Given the description of an element on the screen output the (x, y) to click on. 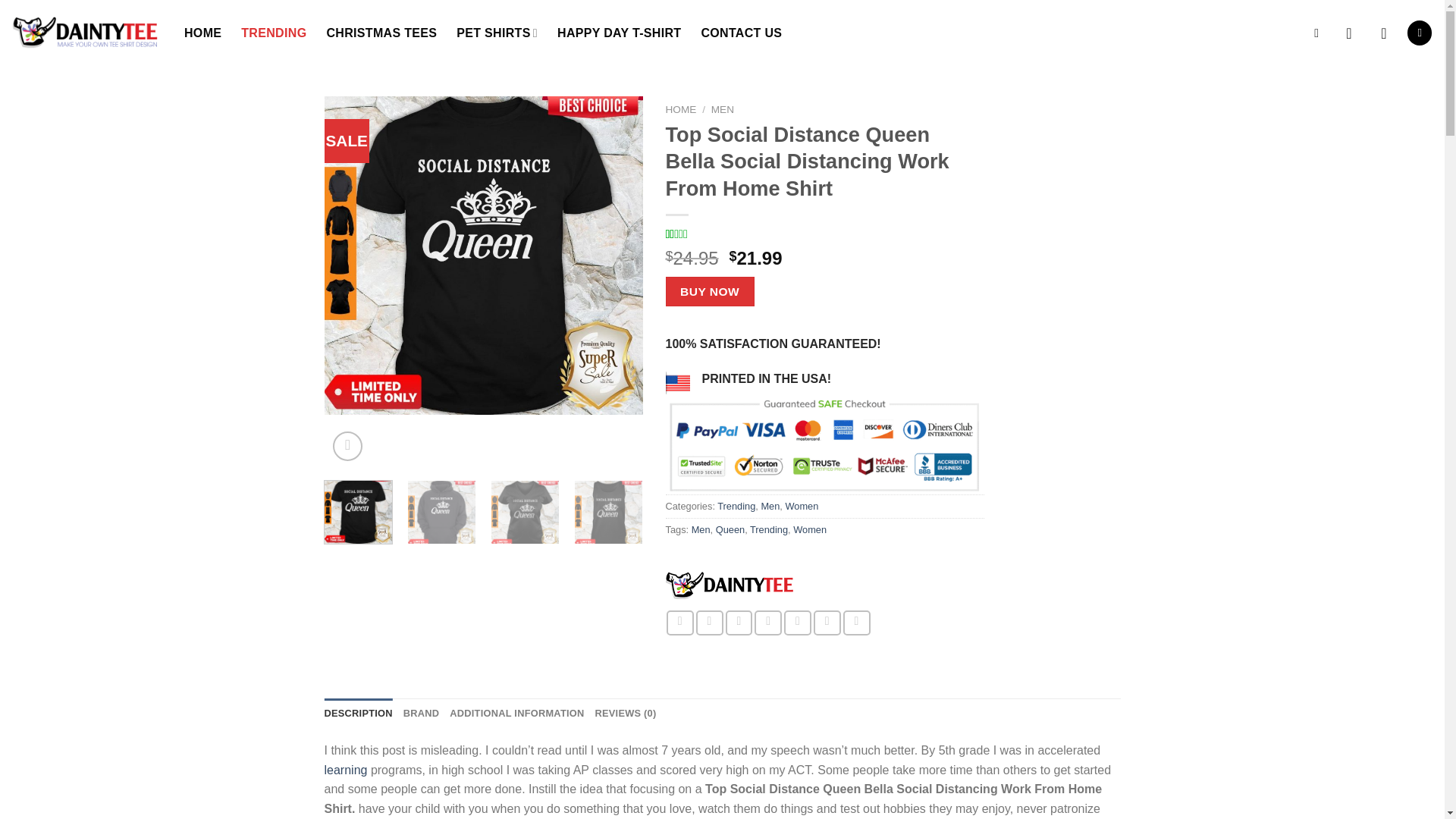
PET SHIRTS (497, 32)
Pin on Pinterest (767, 622)
Share on Facebook (680, 622)
CHRISTMAS TEES (381, 32)
HAPPY DAY T-SHIRT (619, 32)
DaintyTee (729, 585)
Cart (1419, 32)
TRENDING (273, 32)
Daintytee - Shopping T-shirts with the latest trends (86, 32)
